Given the description of an element on the screen output the (x, y) to click on. 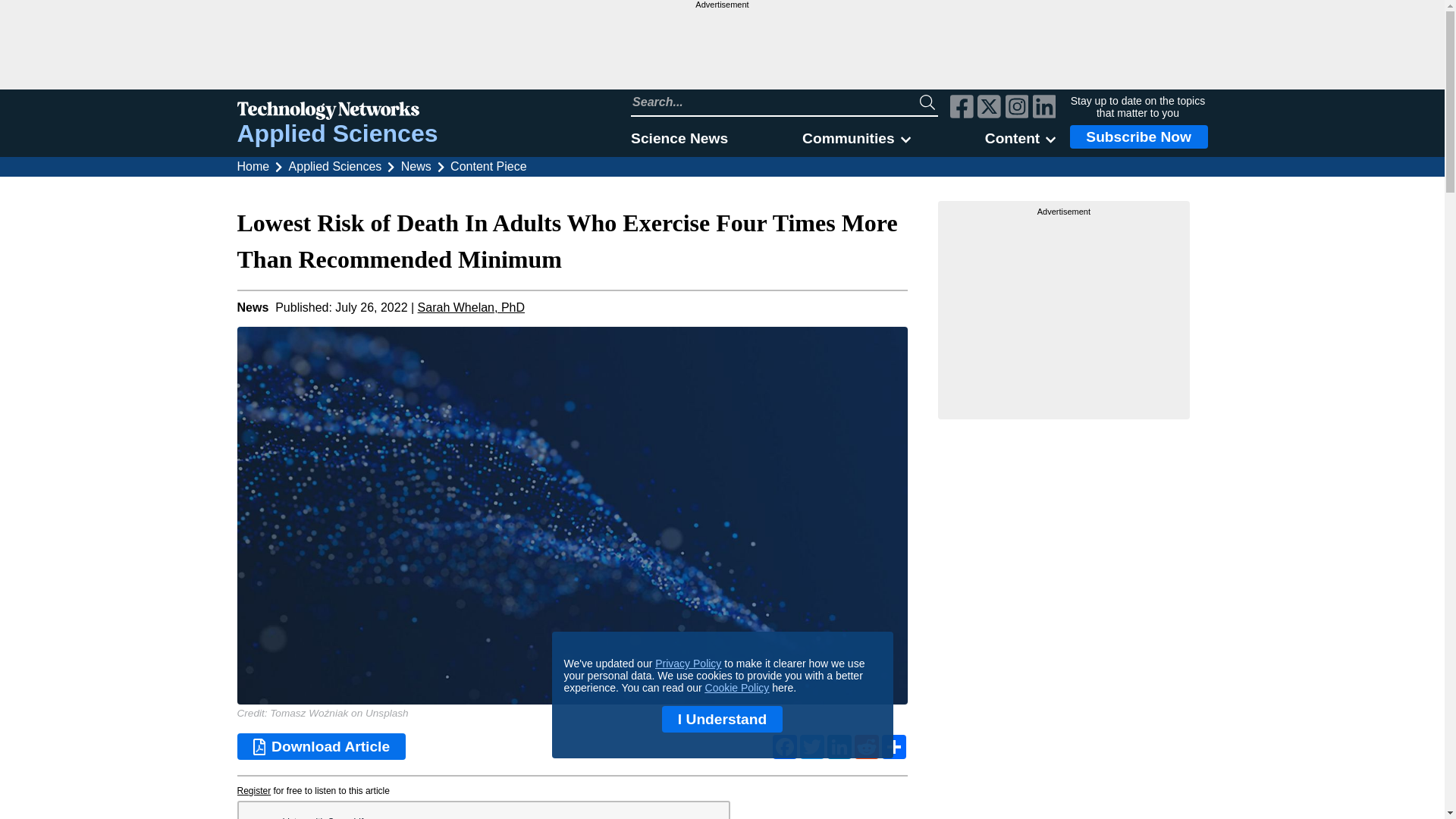
Link to Technology Networks' twitter page (988, 108)
Link to Technology Networks' instagram page (1017, 108)
Technology Networks logo (336, 112)
Cookie Policy (737, 687)
3rd party ad content (721, 49)
I Understand (722, 718)
Search Technology Networks website input field (775, 102)
Link to Technology Networks' linkedin page (1044, 108)
3rd party ad content (1063, 312)
Link to Technology Networks' facebook page (962, 108)
Privacy Policy (687, 663)
